Given the description of an element on the screen output the (x, y) to click on. 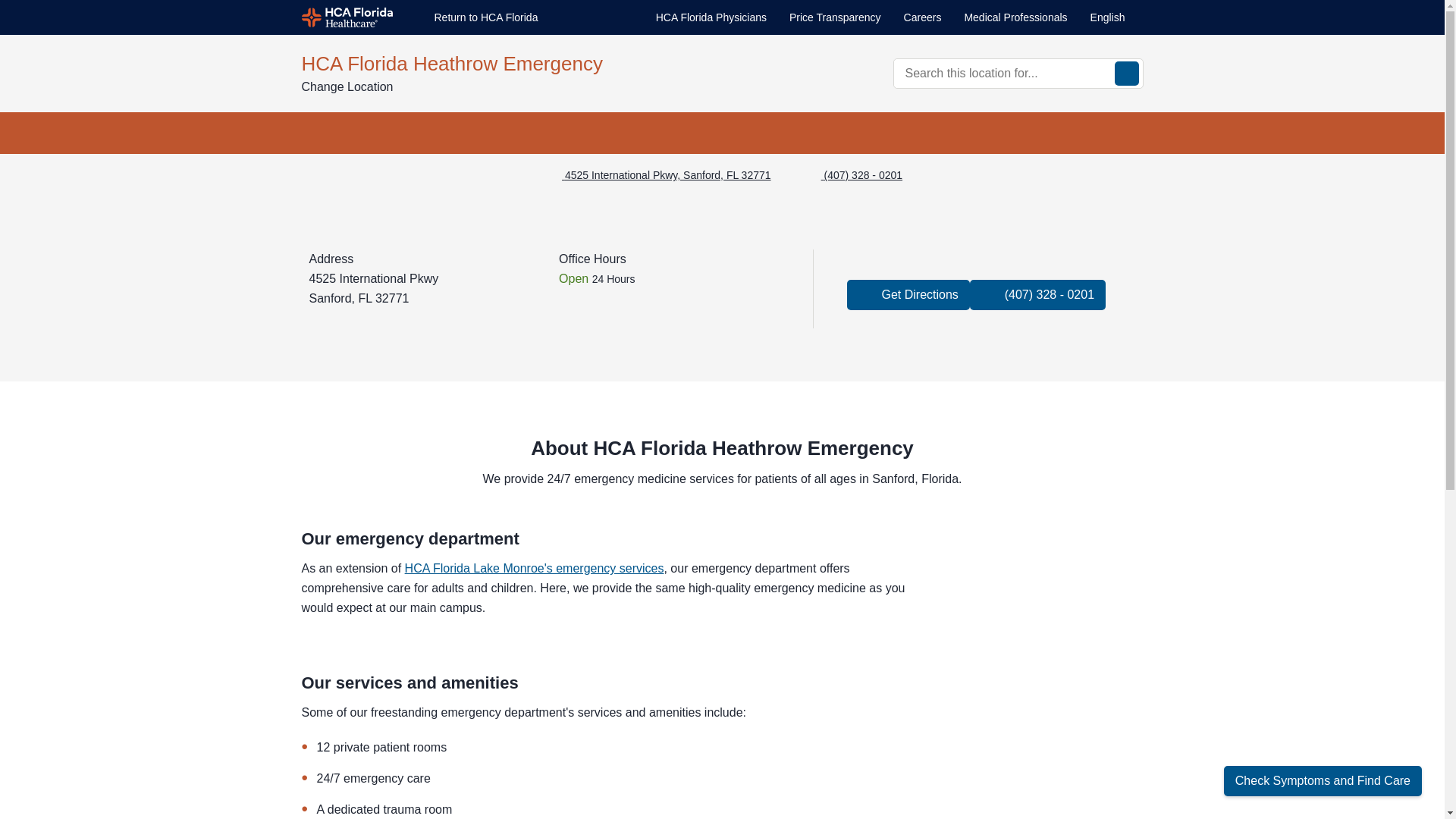
Skip to Content (3, 3)
HCA Florida Heathrow Emergency (506, 62)
HCA Florida Lake Monroe's emergency services (533, 567)
Price Transparency (834, 17)
 4525 International Pkwy, Sanford, FL 32771 (656, 175)
Check Symptoms and Find Care (1323, 780)
 Get Directions (908, 295)
HCA Florida Physicians (711, 17)
Careers (923, 17)
Change Location  (358, 86)
Medical Professionals (1015, 17)
English (1116, 17)
 Return to HCA Florida (473, 17)
